Given the description of an element on the screen output the (x, y) to click on. 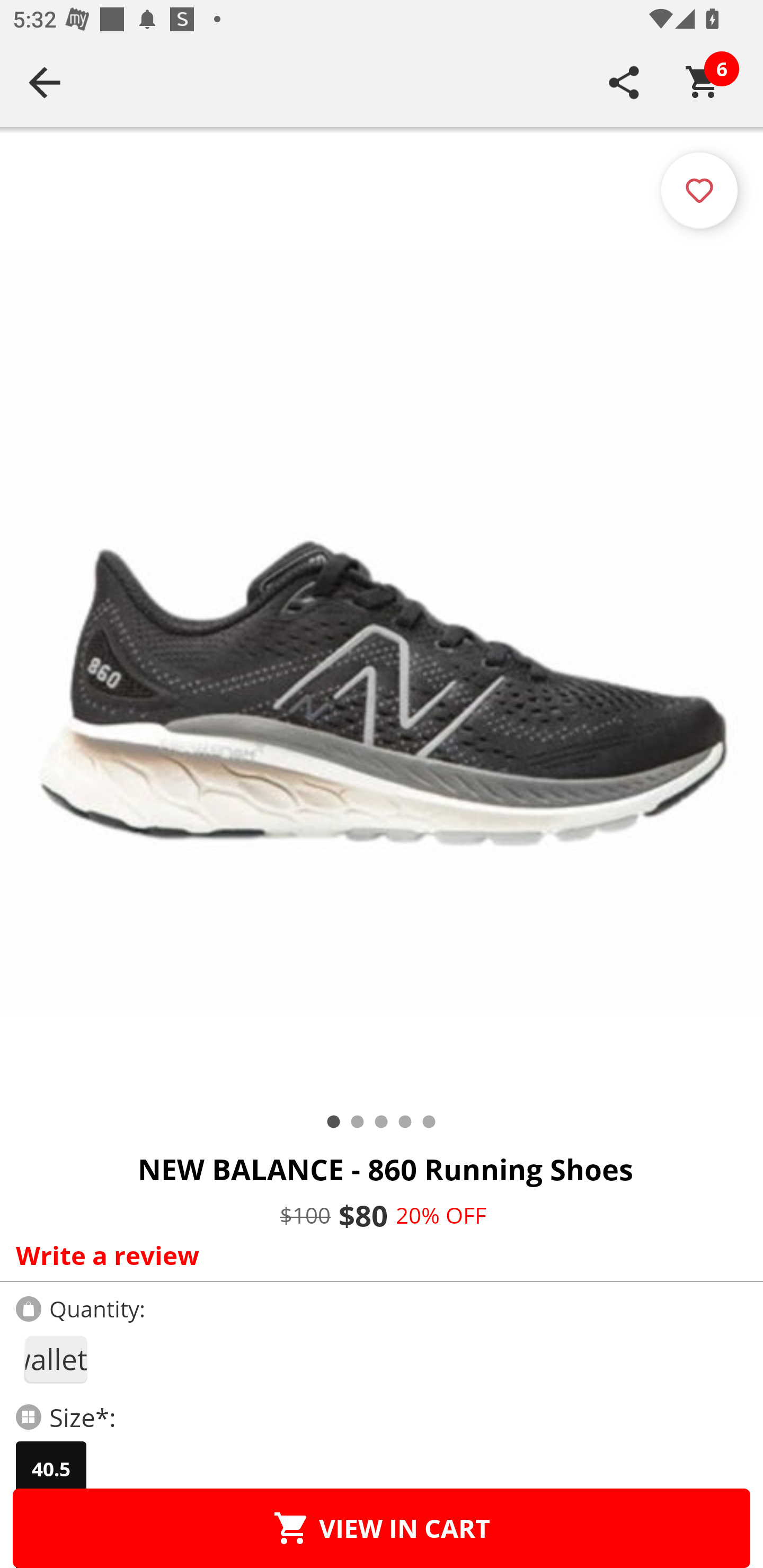
Navigate up (44, 82)
SHARE (623, 82)
Cart (703, 81)
Write a review (377, 1255)
1wallet (55, 1358)
40.5 (51, 1468)
VIEW IN CART (381, 1528)
